Given the description of an element on the screen output the (x, y) to click on. 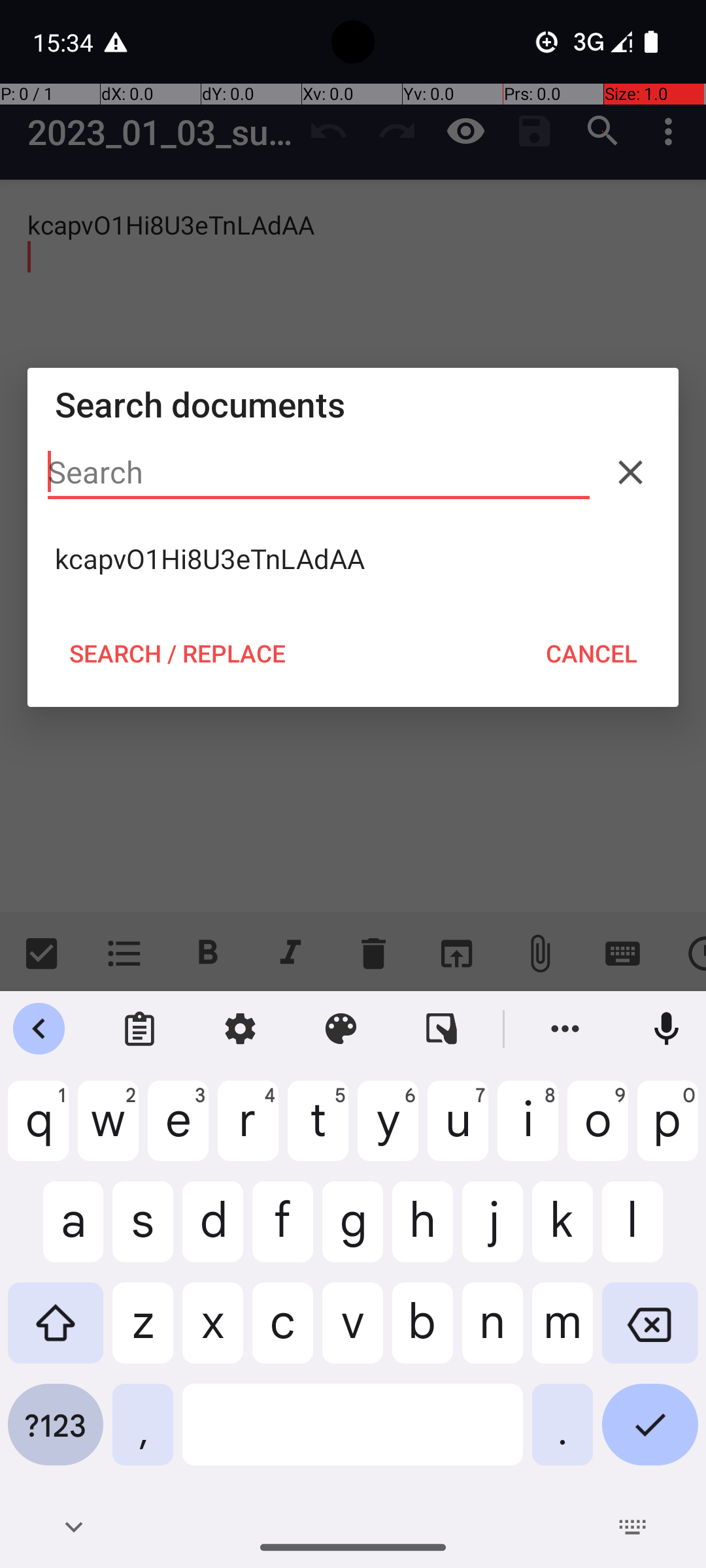
Search documents Element type: android.widget.TextView (352, 403)
kcapvO1Hi8U3eTnLAdAA Element type: android.widget.TextView (352, 558)
SEARCH / REPLACE Element type: android.widget.Button (176, 652)
